Given the description of an element on the screen output the (x, y) to click on. 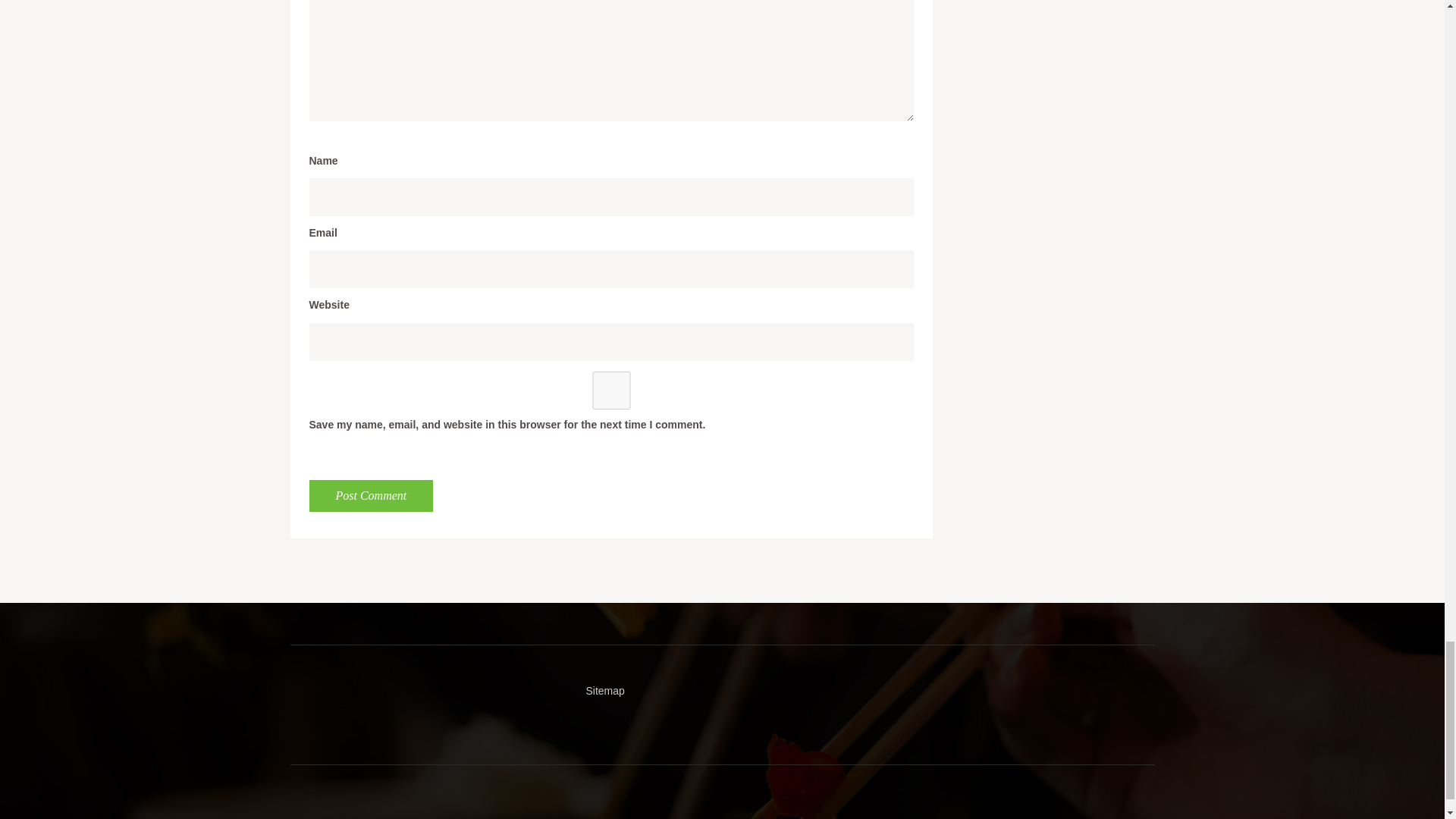
LiveInternet (301, 693)
Sitemap (604, 690)
yes (611, 390)
Post Comment (370, 495)
